Given the description of an element on the screen output the (x, y) to click on. 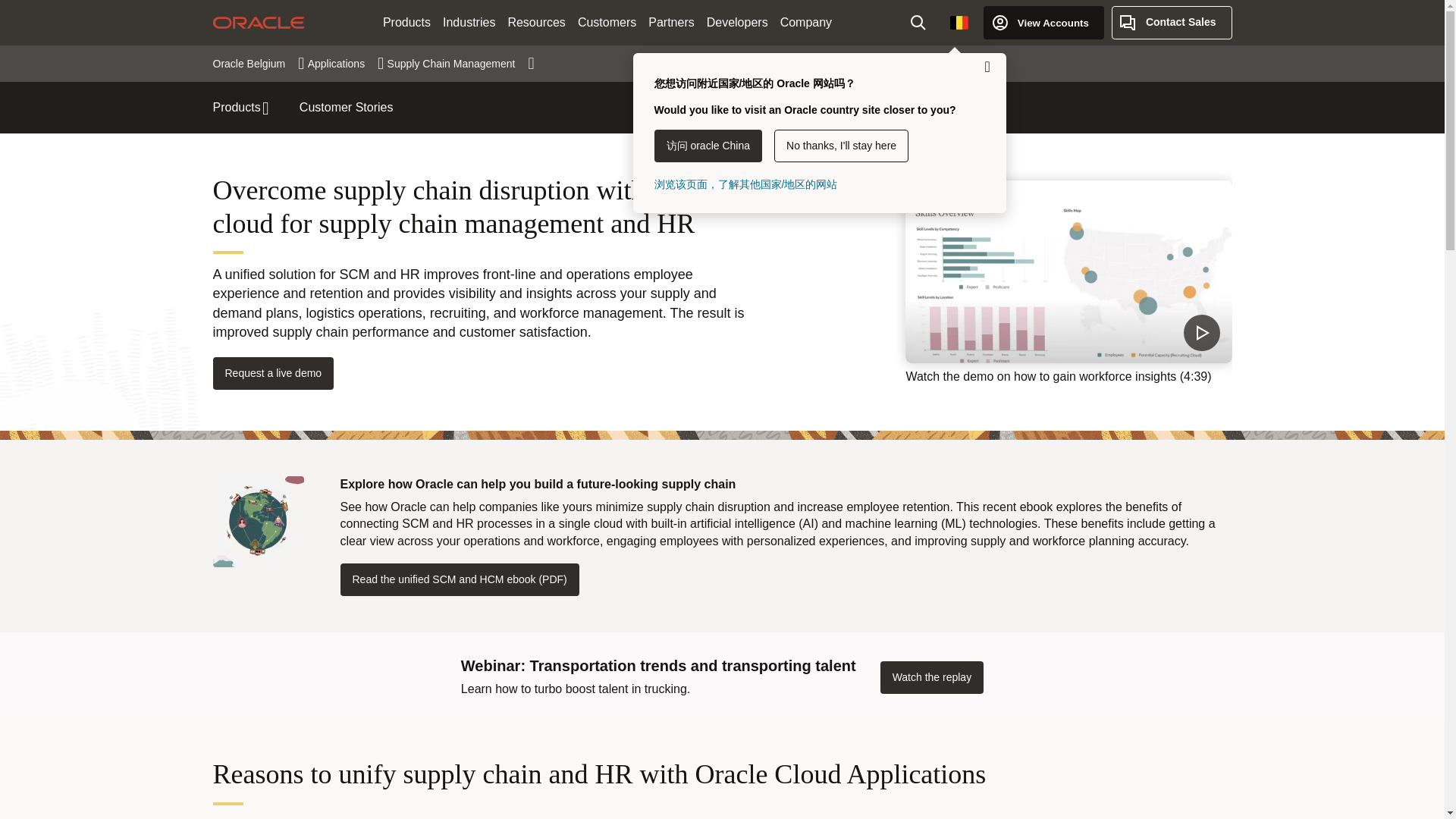
Close (987, 67)
Contact Sales (1171, 22)
Oracle Belgium (258, 63)
Resources (535, 22)
Partners (671, 22)
Supply Chain Management (460, 63)
View Accounts (1043, 22)
Developers (737, 22)
Country (958, 22)
Contact Sales (1171, 22)
Products (406, 22)
No thanks, I'll stay here (841, 145)
Watch analytics demo video (1068, 271)
Company (806, 22)
Customers (607, 22)
